Given the description of an element on the screen output the (x, y) to click on. 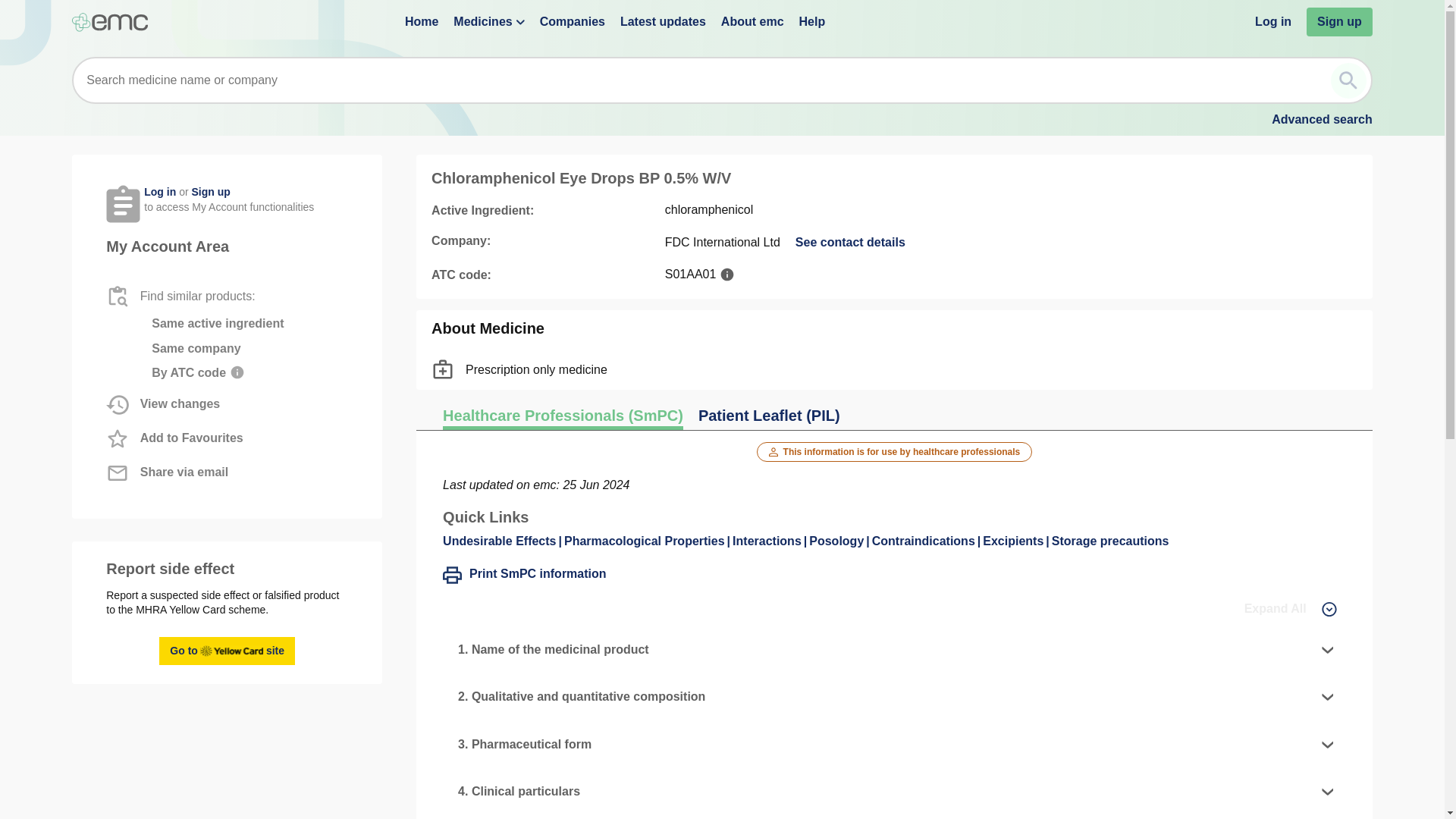
Help (812, 21)
Expand All (1290, 609)
About emc (752, 21)
Latest updates (663, 21)
Excipients (1016, 541)
Print SmPC information (523, 574)
Undesirable Effects (503, 541)
Link to FDC International Ltd details (849, 242)
back to home page (109, 22)
Interactions (770, 541)
Posology (840, 541)
Log in (1273, 21)
See contact details (849, 242)
emc Search (1347, 80)
Contraindications (928, 541)
